Given the description of an element on the screen output the (x, y) to click on. 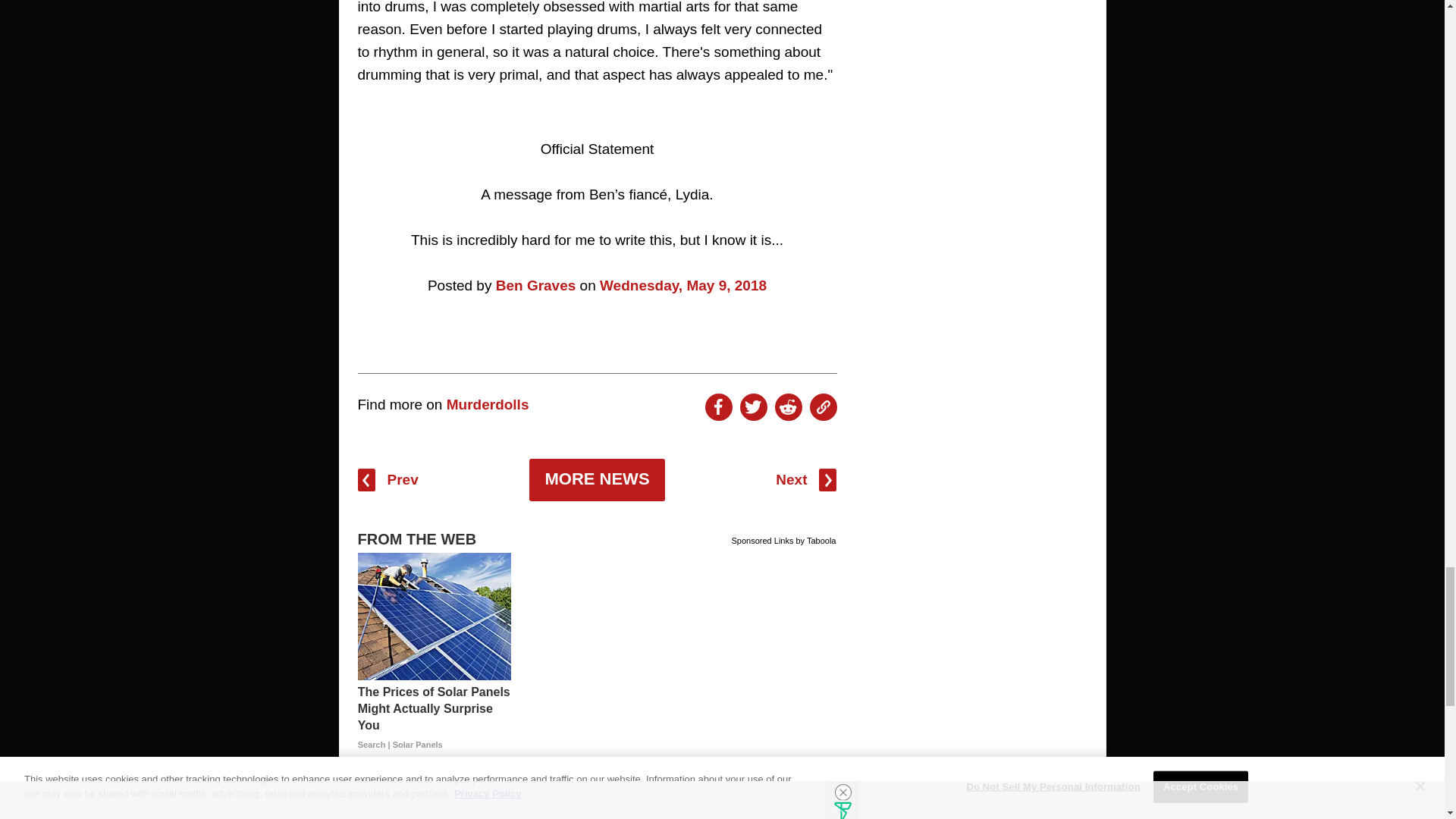
The Prices of Solar Panels Might Actually Surprise You (434, 717)
Murderdolls (487, 404)
Ben Graves (536, 285)
Copy To Clipboard (823, 406)
Prev (388, 479)
Share On Facebook (718, 406)
Wednesday, May 9, 2018 (683, 285)
Share On Twitter (753, 406)
MORE NEWS (596, 479)
Next (805, 479)
Share On Reddit (788, 406)
